Given the description of an element on the screen output the (x, y) to click on. 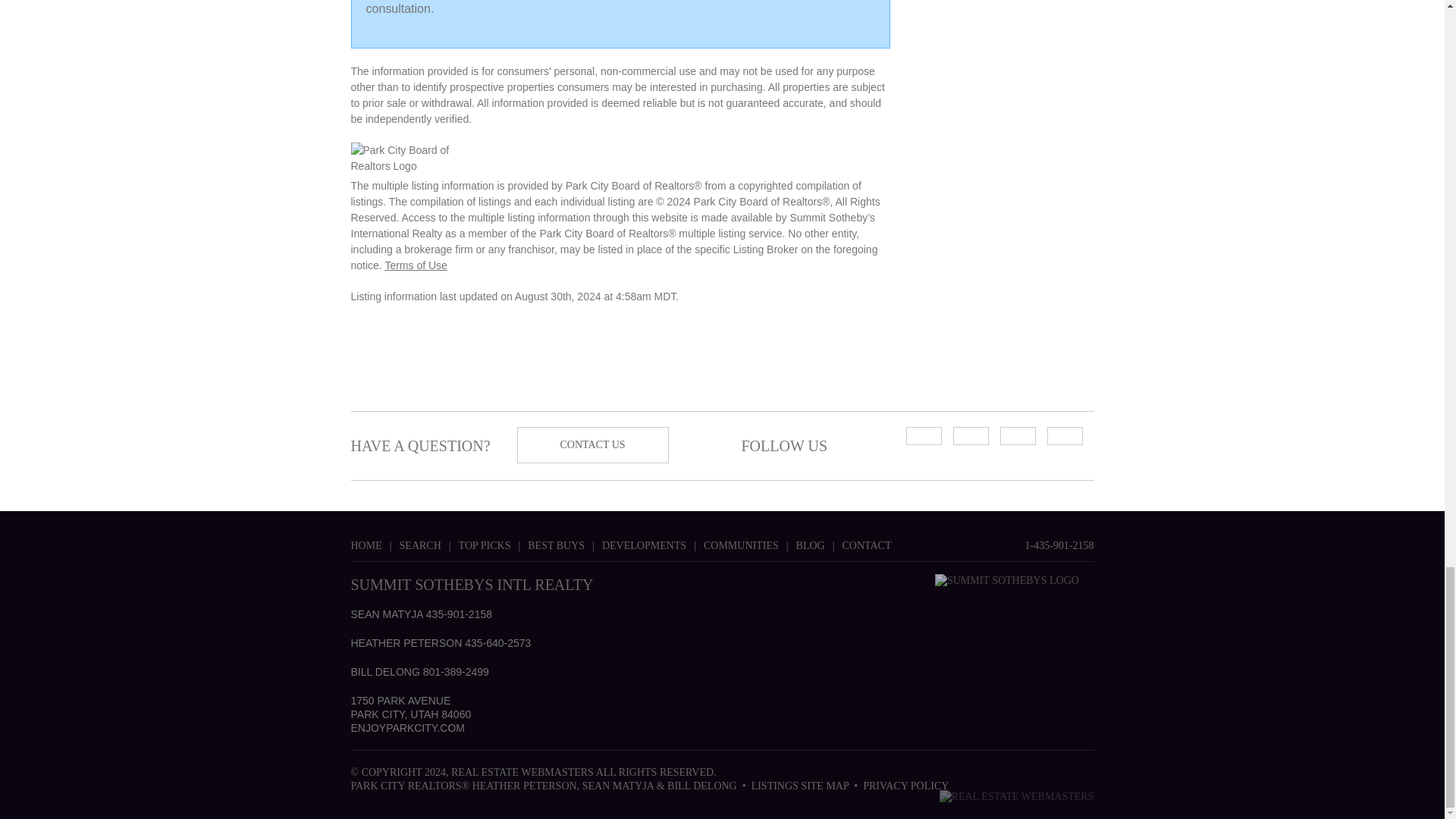
Follow on Twitter (1063, 435)
Follow on Facebook (1016, 435)
Terms of Use (415, 265)
Subscribe to RSS (922, 435)
